Given the description of an element on the screen output the (x, y) to click on. 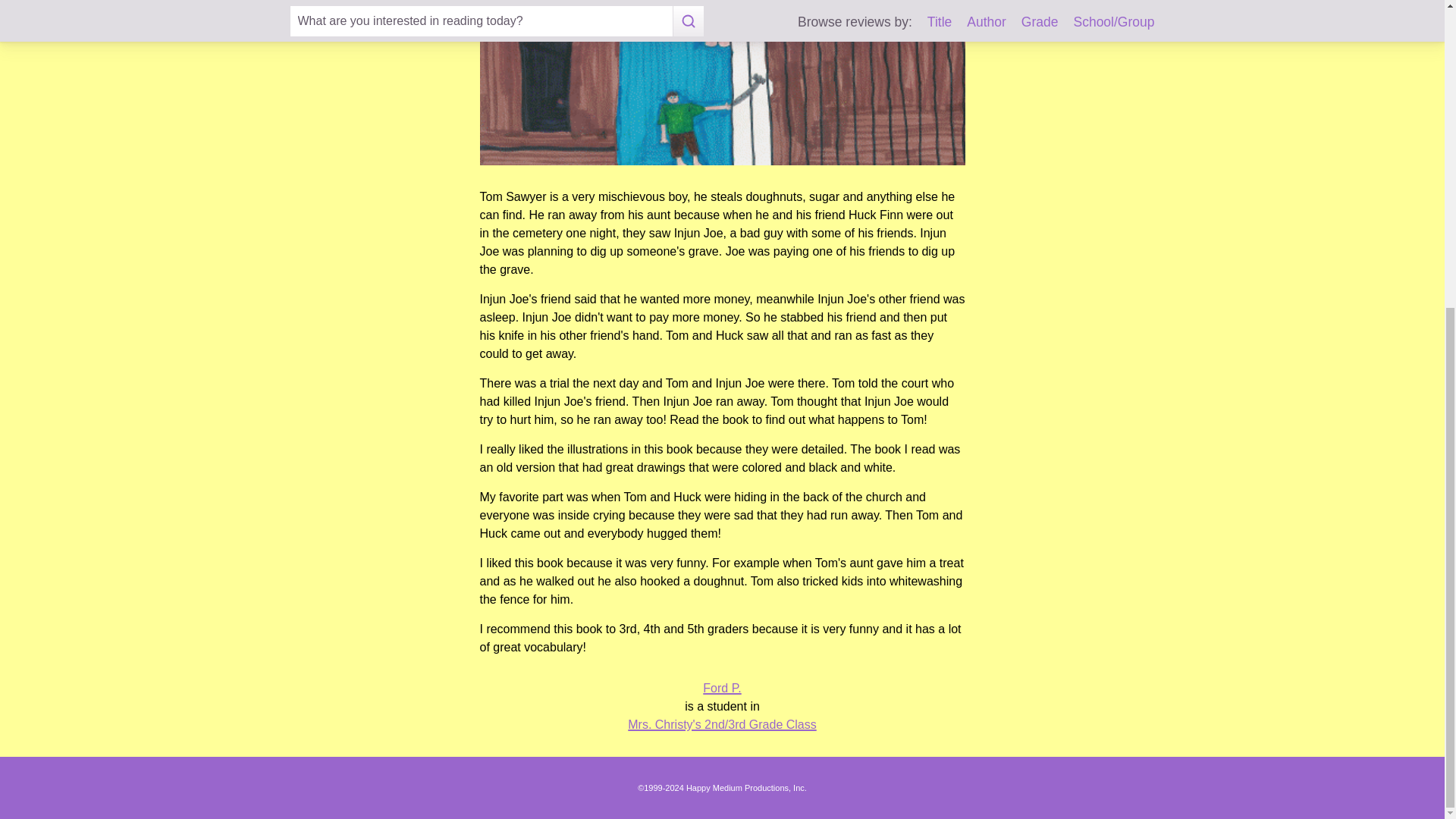
Ford P. (722, 687)
